Given the description of an element on the screen output the (x, y) to click on. 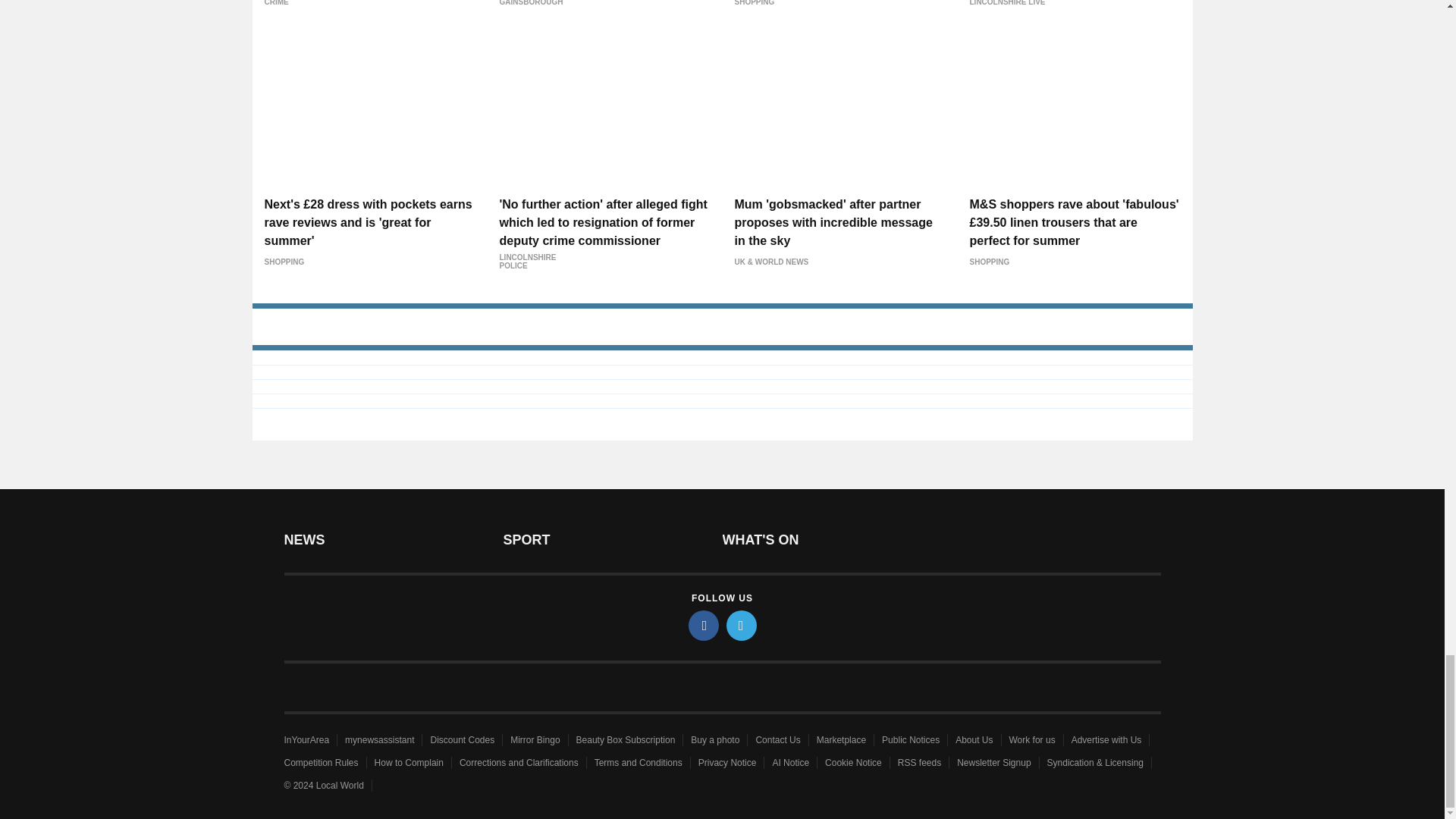
facebook (703, 625)
twitter (741, 625)
